Given the description of an element on the screen output the (x, y) to click on. 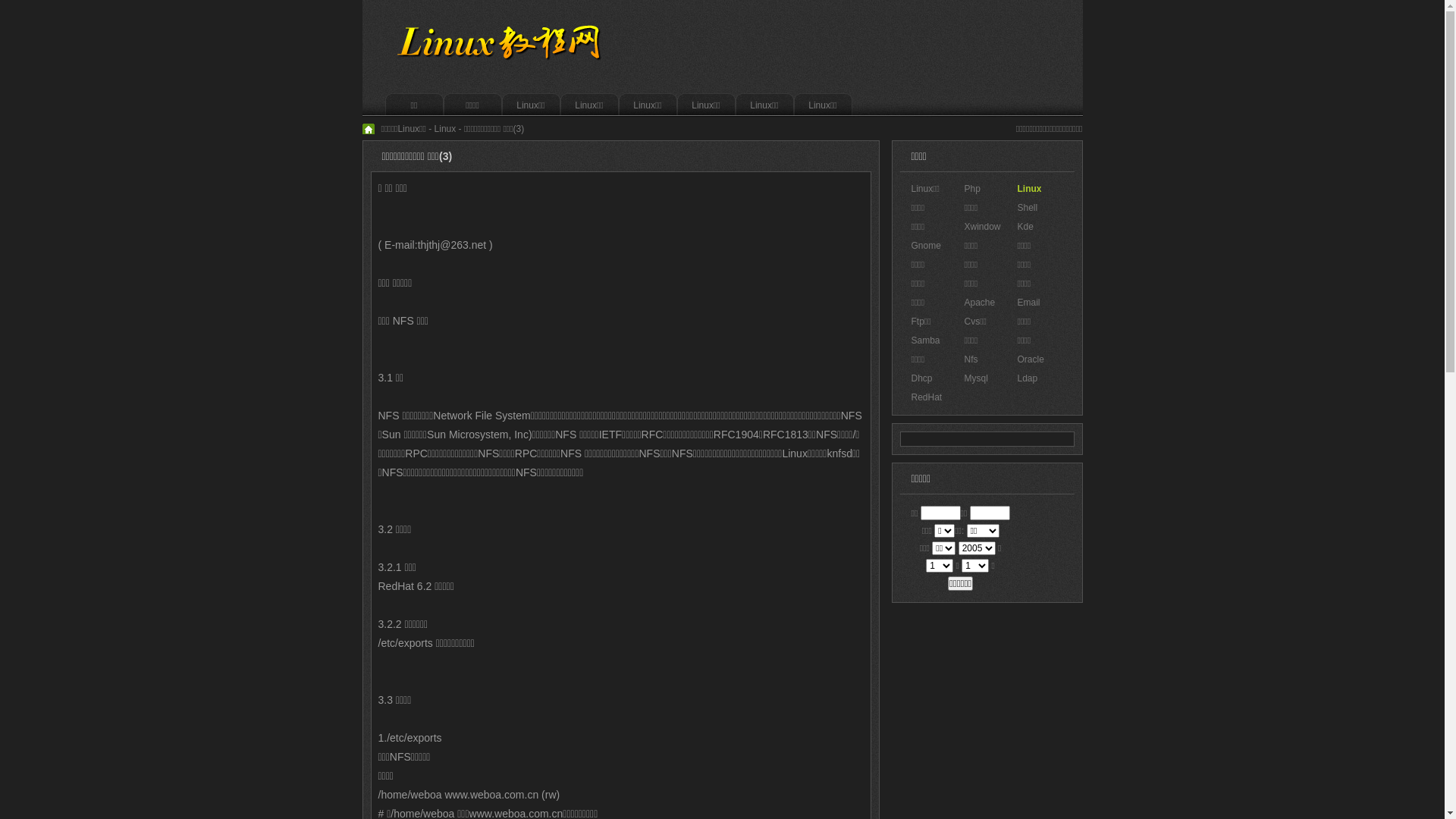
Dhcp Element type: text (921, 378)
Linux Element type: text (445, 128)
Shell Element type: text (1027, 207)
Linux Element type: text (1029, 188)
Ldap Element type: text (1027, 378)
Email Element type: text (1028, 302)
Kde Element type: text (1025, 226)
Xwindow Element type: text (982, 226)
Oracle Element type: text (1030, 359)
Nfs Element type: text (971, 359)
Samba Element type: text (925, 340)
RedHat Element type: text (926, 397)
Gnome Element type: text (926, 245)
Mysql Element type: text (976, 378)
Php Element type: text (972, 188)
Apache Element type: text (979, 302)
